Given the description of an element on the screen output the (x, y) to click on. 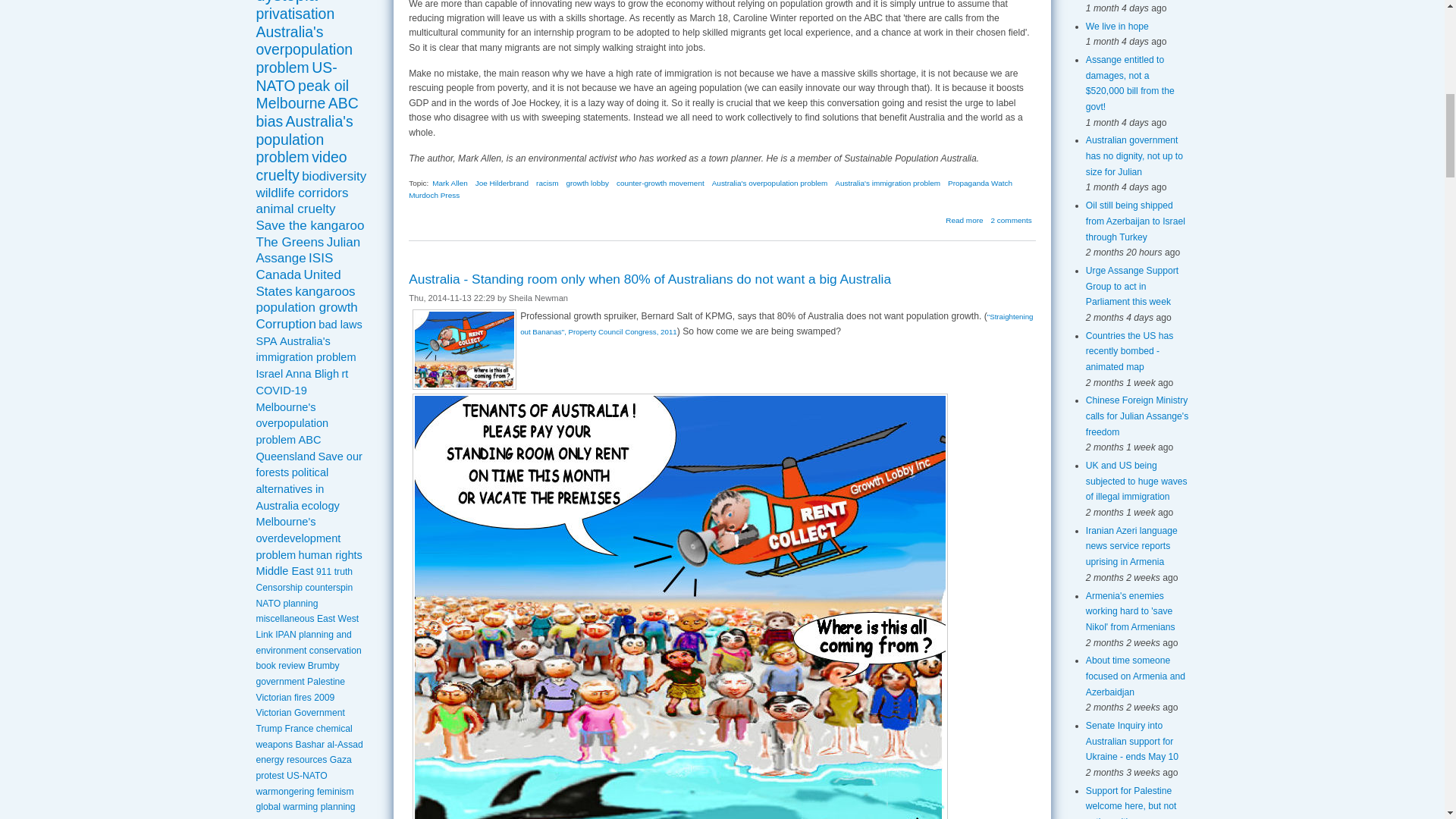
racism (546, 183)
Murdoch Press (434, 194)
2 comments (1011, 220)
Australia's immigration problem (887, 183)
Jump to the first comment of this posting. (1011, 220)
counter-growth movement (659, 183)
Joe Hilderbrand (502, 183)
Propaganda Watch (979, 183)
growth lobby (587, 183)
Australia's overpopulation problem (769, 183)
Mark Allen (449, 183)
"Straightening out Bananas", Property Council Congress, 2011 (775, 323)
